Given the description of an element on the screen output the (x, y) to click on. 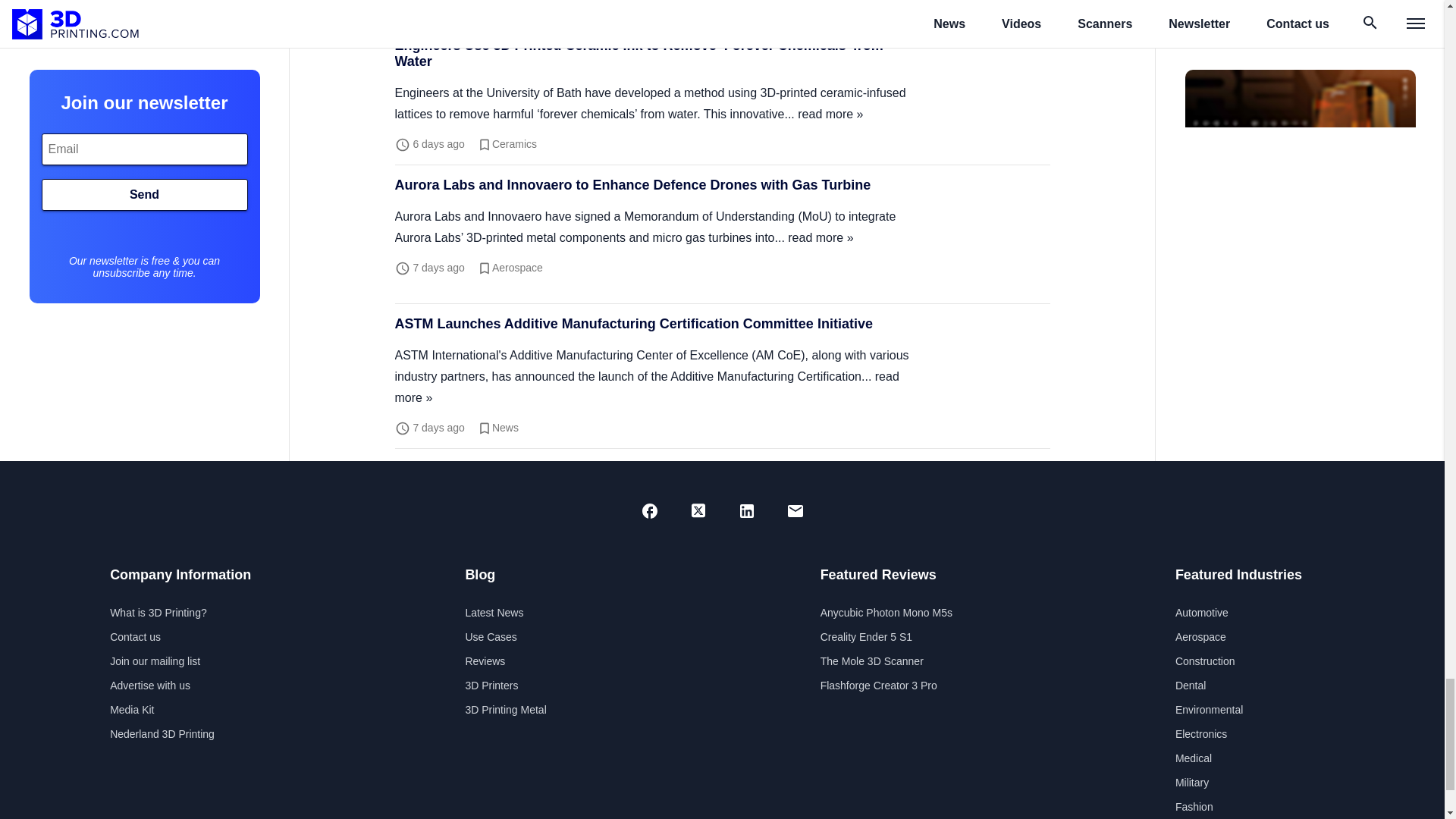
1723111420 (438, 143)
1723024739 (438, 266)
1723017650 (438, 426)
